Given the description of an element on the screen output the (x, y) to click on. 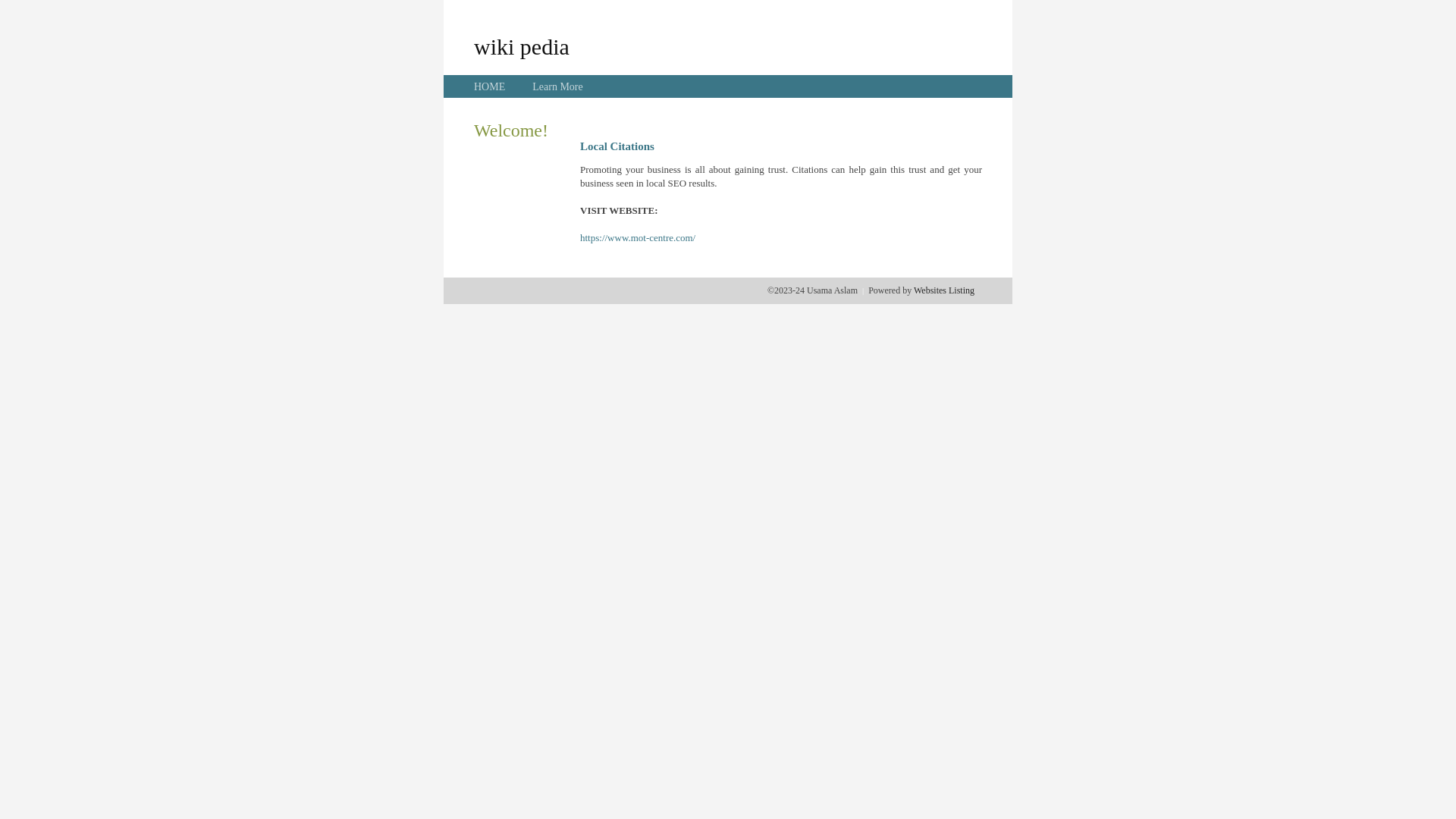
wiki pedia Element type: text (521, 46)
Websites Listing Element type: text (943, 290)
Learn More Element type: text (557, 86)
https://www.mot-centre.com/ Element type: text (637, 237)
HOME Element type: text (489, 86)
